Given the description of an element on the screen output the (x, y) to click on. 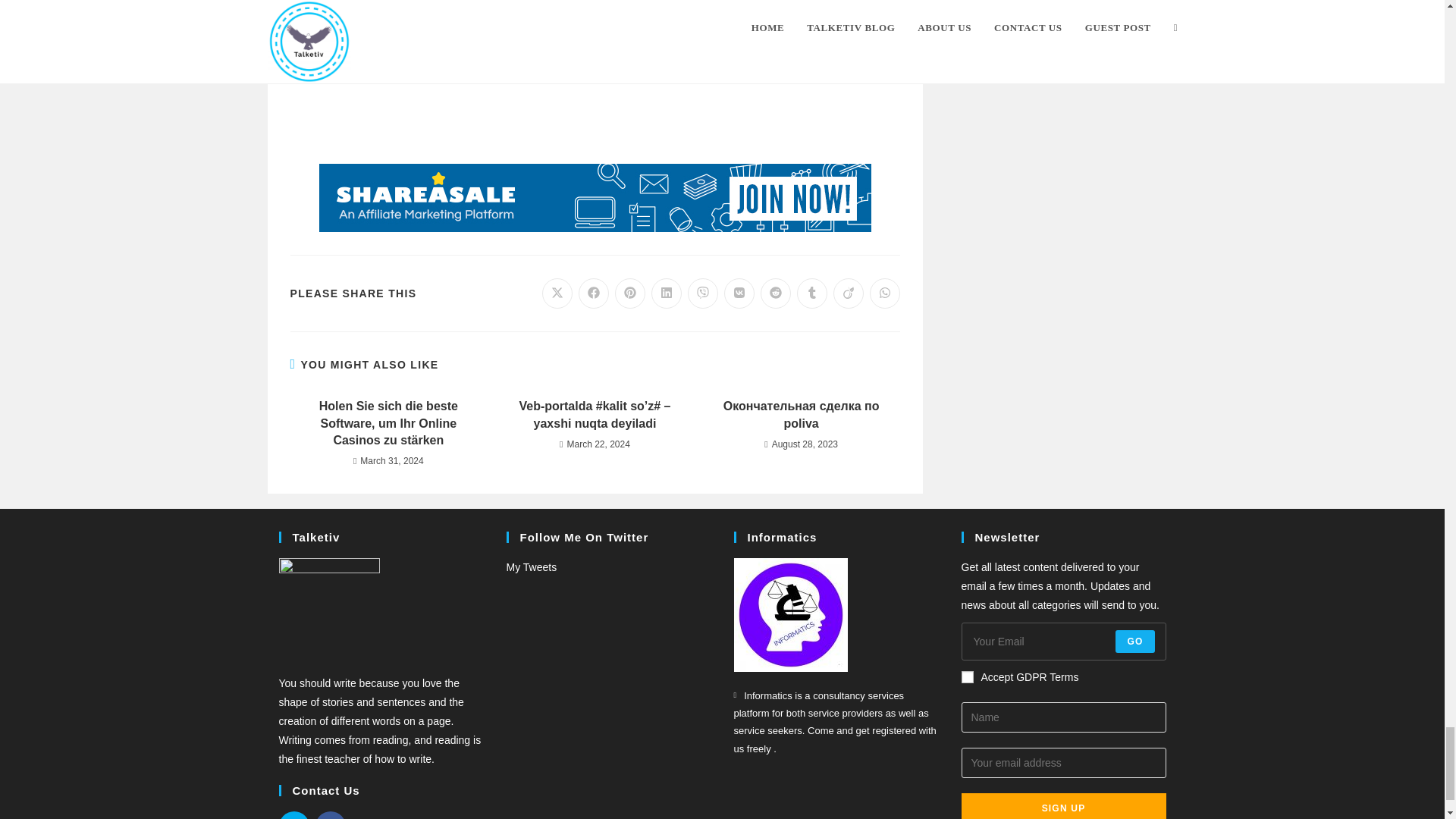
1 (967, 676)
